Given the description of an element on the screen output the (x, y) to click on. 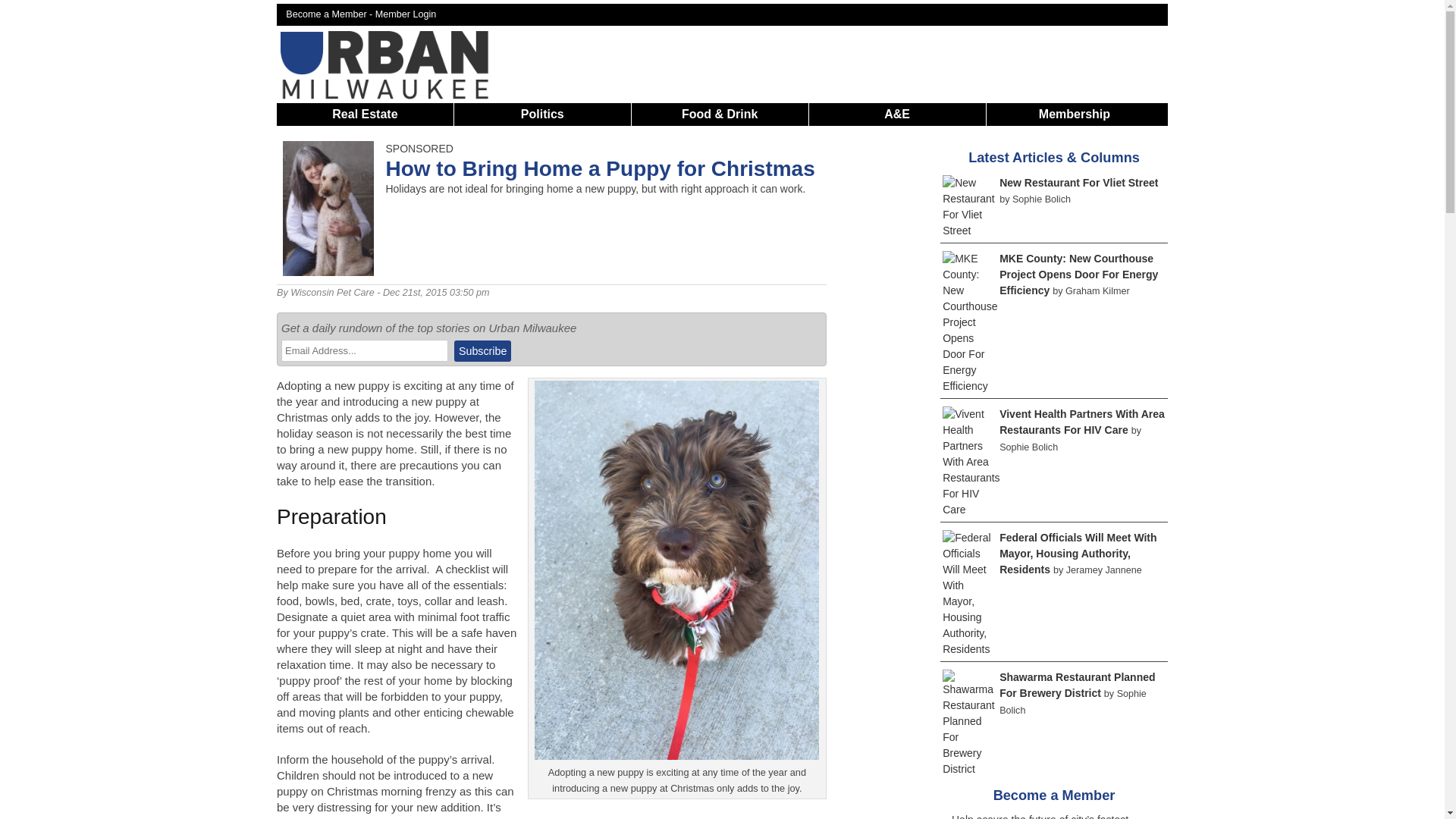
Posts by Wisconsin Pet Care (331, 292)
Member Login (405, 14)
Politics (542, 113)
Wisconsin Pet Care (331, 292)
Become a Member - (330, 14)
Subscribe (482, 350)
Subscribe (482, 350)
Real Estate (364, 113)
Membership (1074, 113)
